Given the description of an element on the screen output the (x, y) to click on. 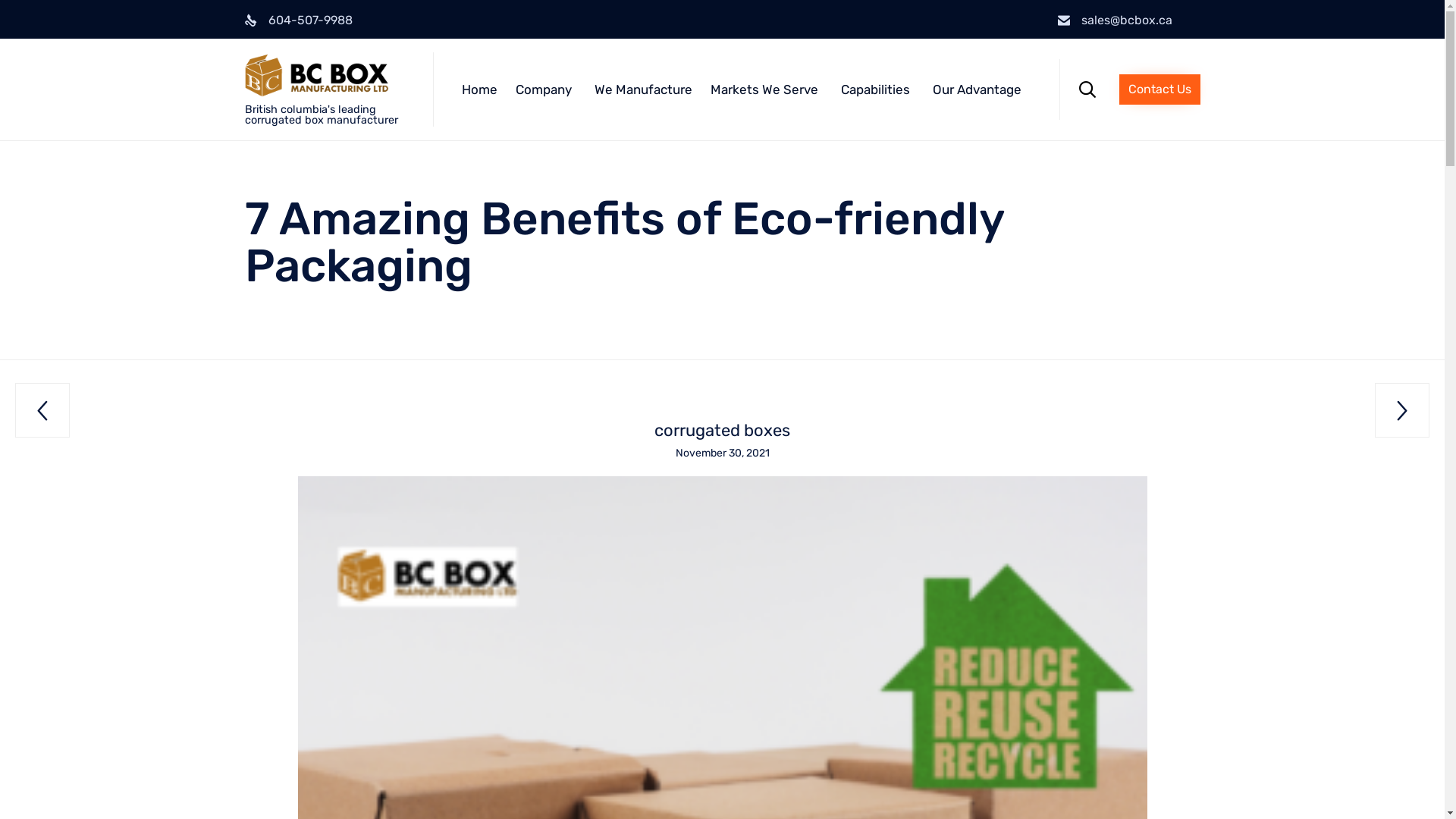
Skip to content Element type: text (1058, 58)
Our Advantage Element type: text (979, 89)
Markets We Serve Element type: text (766, 89)
Capabilities Element type: text (877, 89)
604-507-9988 Element type: text (310, 20)
Home Element type: text (479, 89)
Company Element type: text (545, 89)
sales@bcbox.ca Element type: text (1126, 20)
We Manufacture Element type: text (643, 89)
BC Box Manufacturing Ltd. Element type: hover (338, 76)
Contact Us Element type: text (1159, 89)
corrugated boxes Element type: text (722, 430)
